Given the description of an element on the screen output the (x, y) to click on. 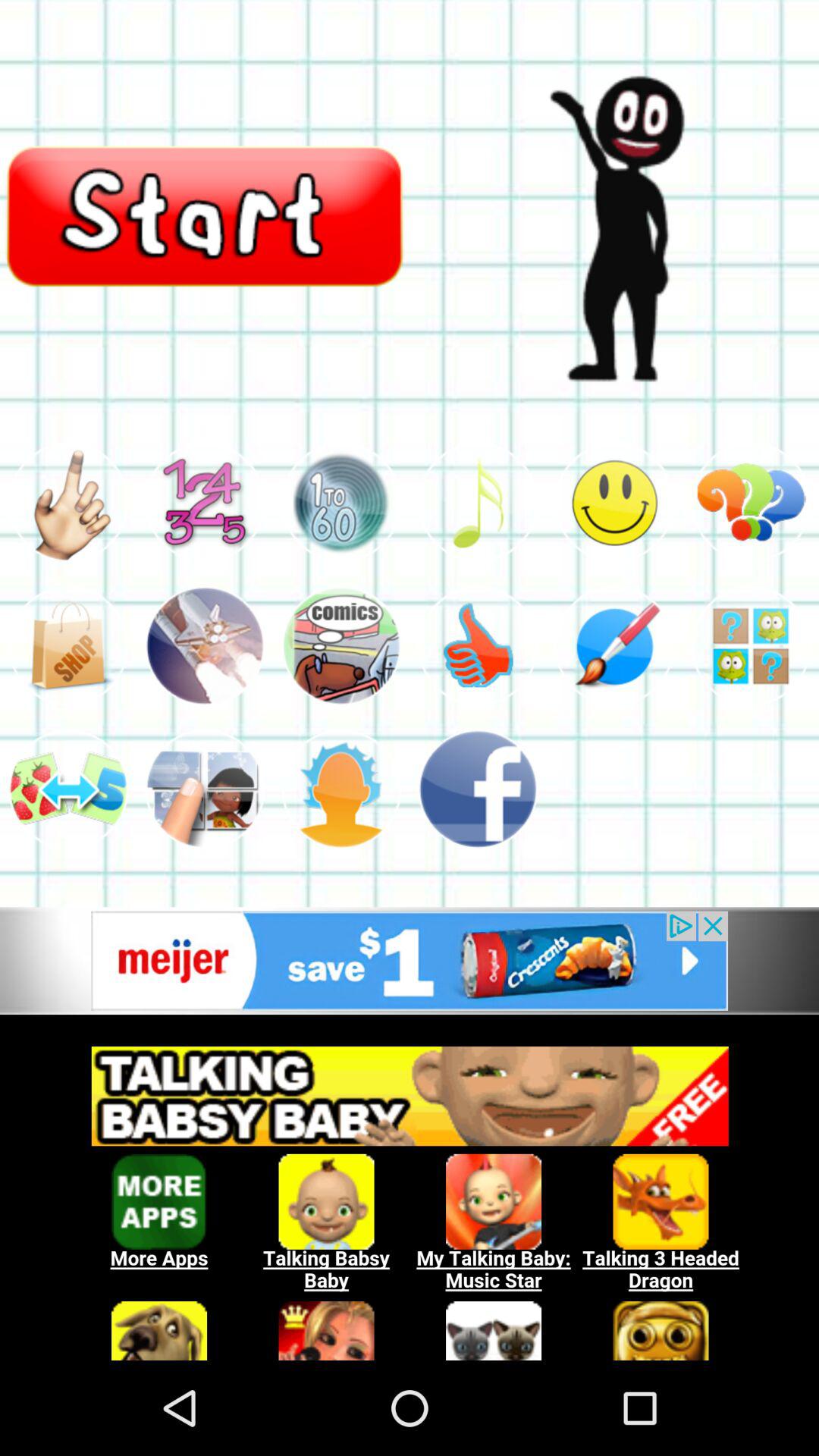
click picture icon (204, 645)
